Given the description of an element on the screen output the (x, y) to click on. 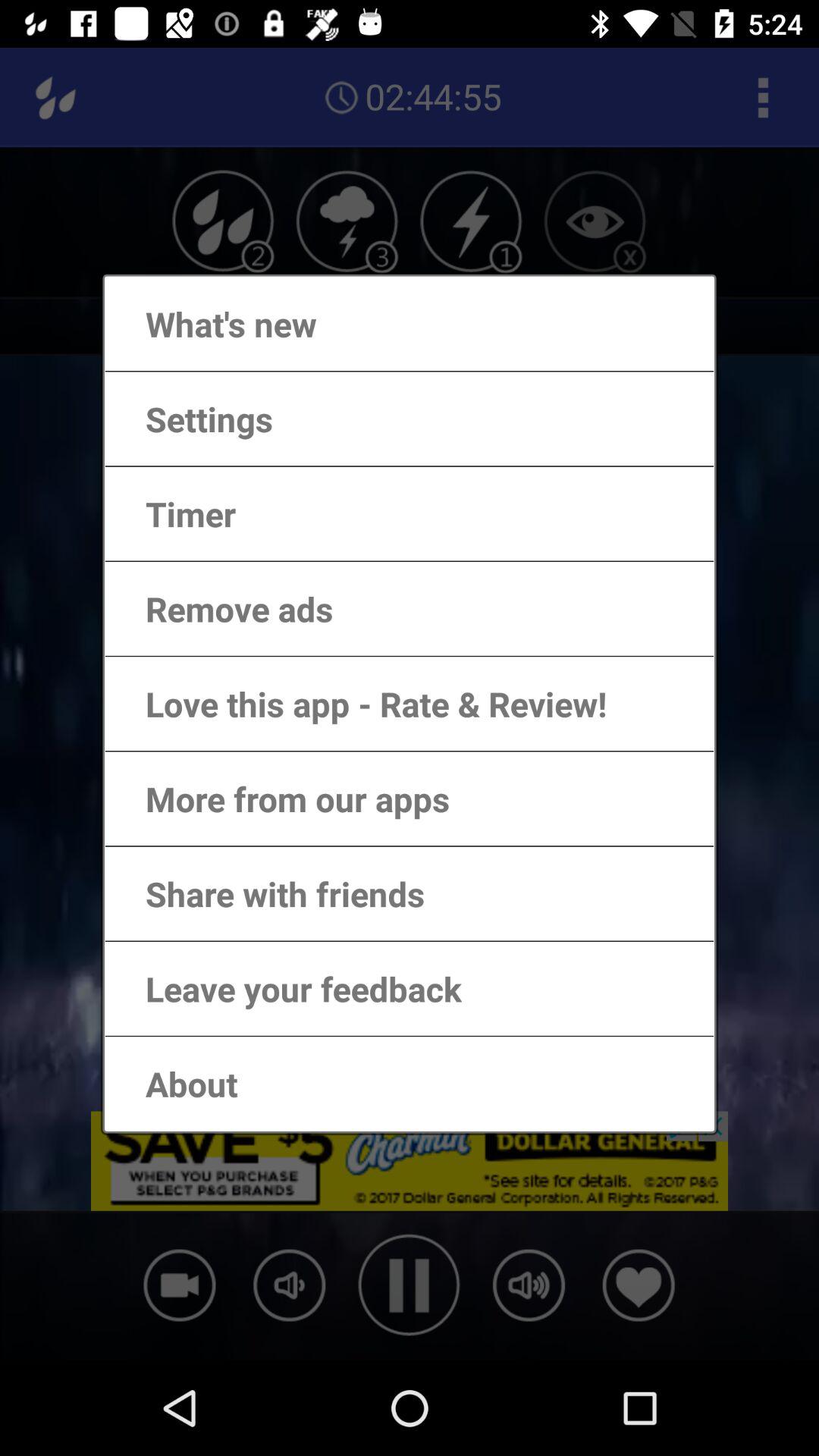
launch the what's new item (215, 323)
